Given the description of an element on the screen output the (x, y) to click on. 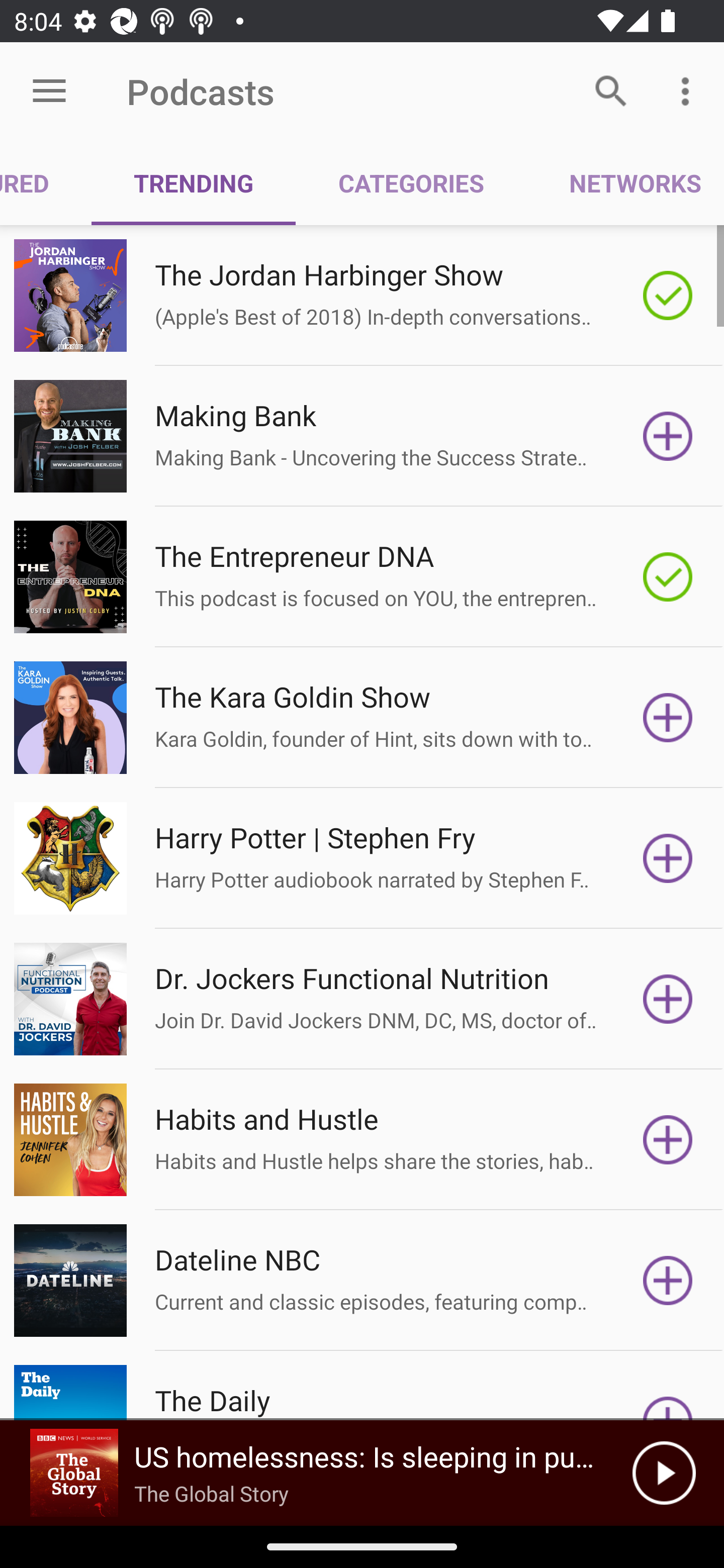
Open menu (49, 91)
Search (611, 90)
More options (688, 90)
TRENDING (193, 183)
CATEGORIES (410, 183)
NETWORKS (625, 183)
Subscribed (667, 295)
Subscribe (667, 435)
Subscribed (667, 576)
Subscribe (667, 717)
Subscribe (667, 858)
Subscribe (667, 998)
Subscribe (667, 1139)
Subscribe (667, 1280)
Play (663, 1472)
